Given the description of an element on the screen output the (x, y) to click on. 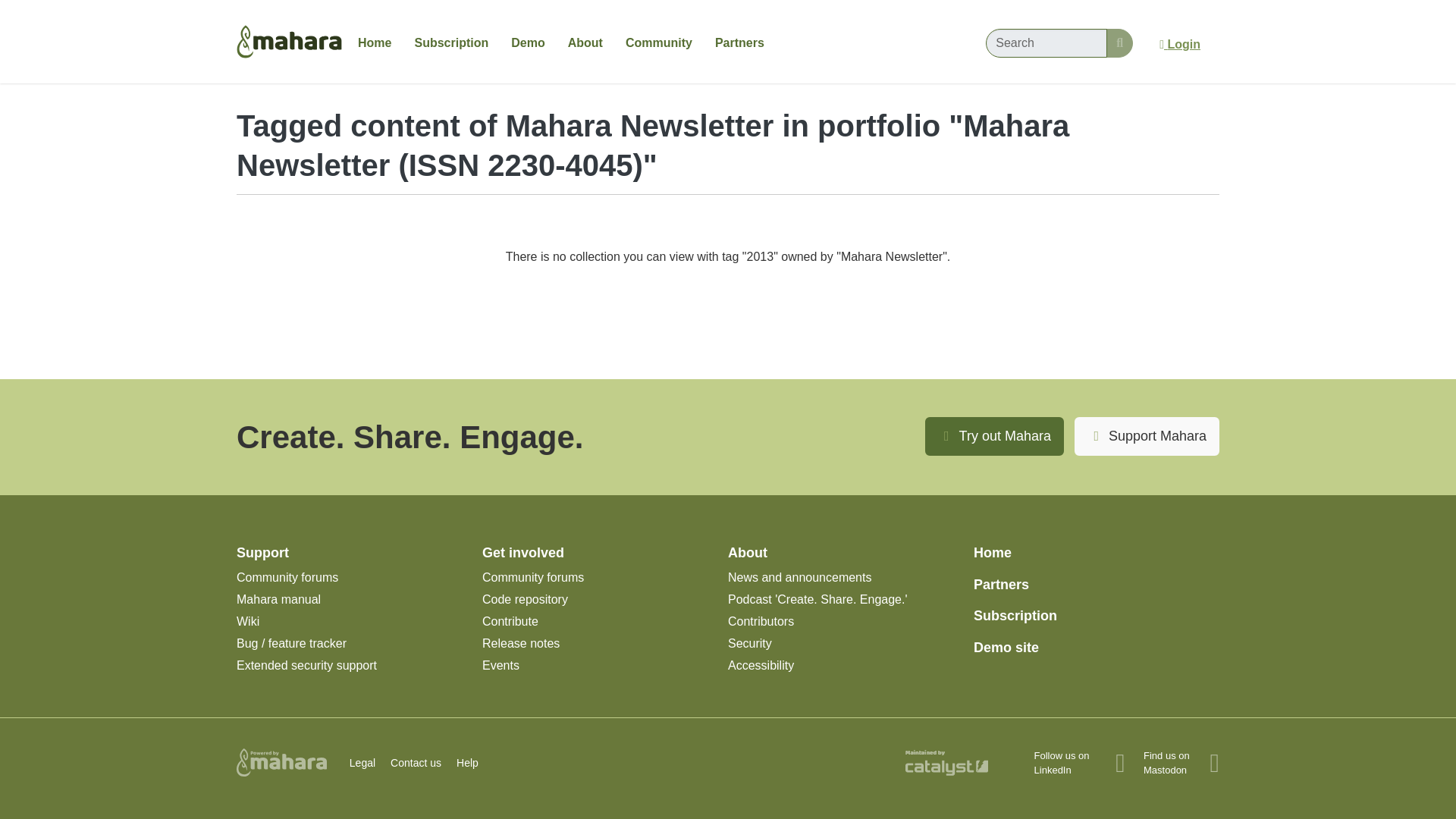
About (585, 42)
Go (1119, 42)
Login (1180, 44)
Community (658, 42)
Partners (739, 42)
Subscription (451, 42)
Home (374, 42)
Demo (527, 42)
